Given the description of an element on the screen output the (x, y) to click on. 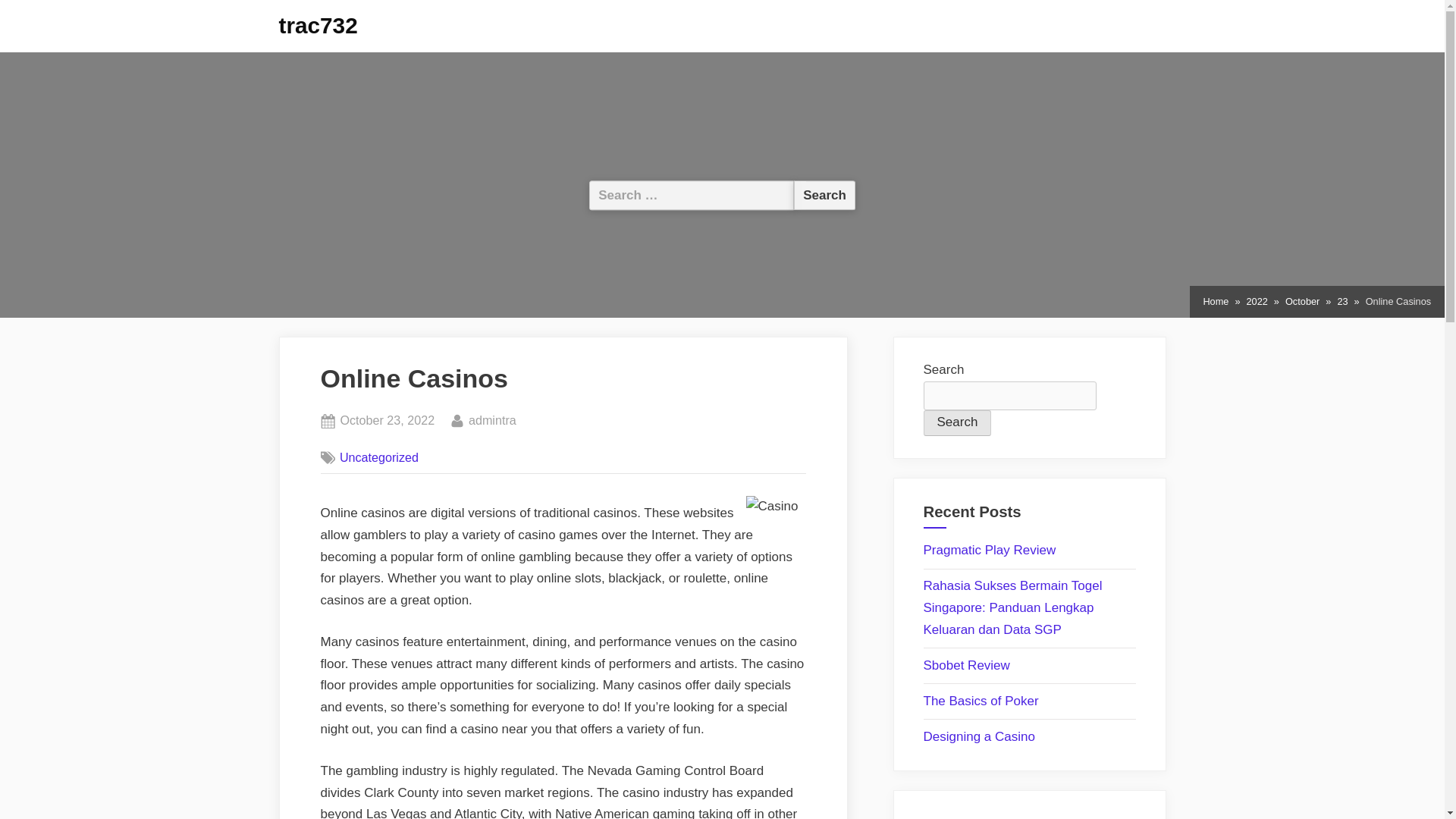
The Basics of Poker (981, 700)
Search (824, 194)
Designing a Casino (979, 736)
October (1302, 301)
trac732 (318, 25)
Search (386, 420)
Pragmatic Play Review (824, 194)
Home (990, 549)
2022 (1215, 301)
